Given the description of an element on the screen output the (x, y) to click on. 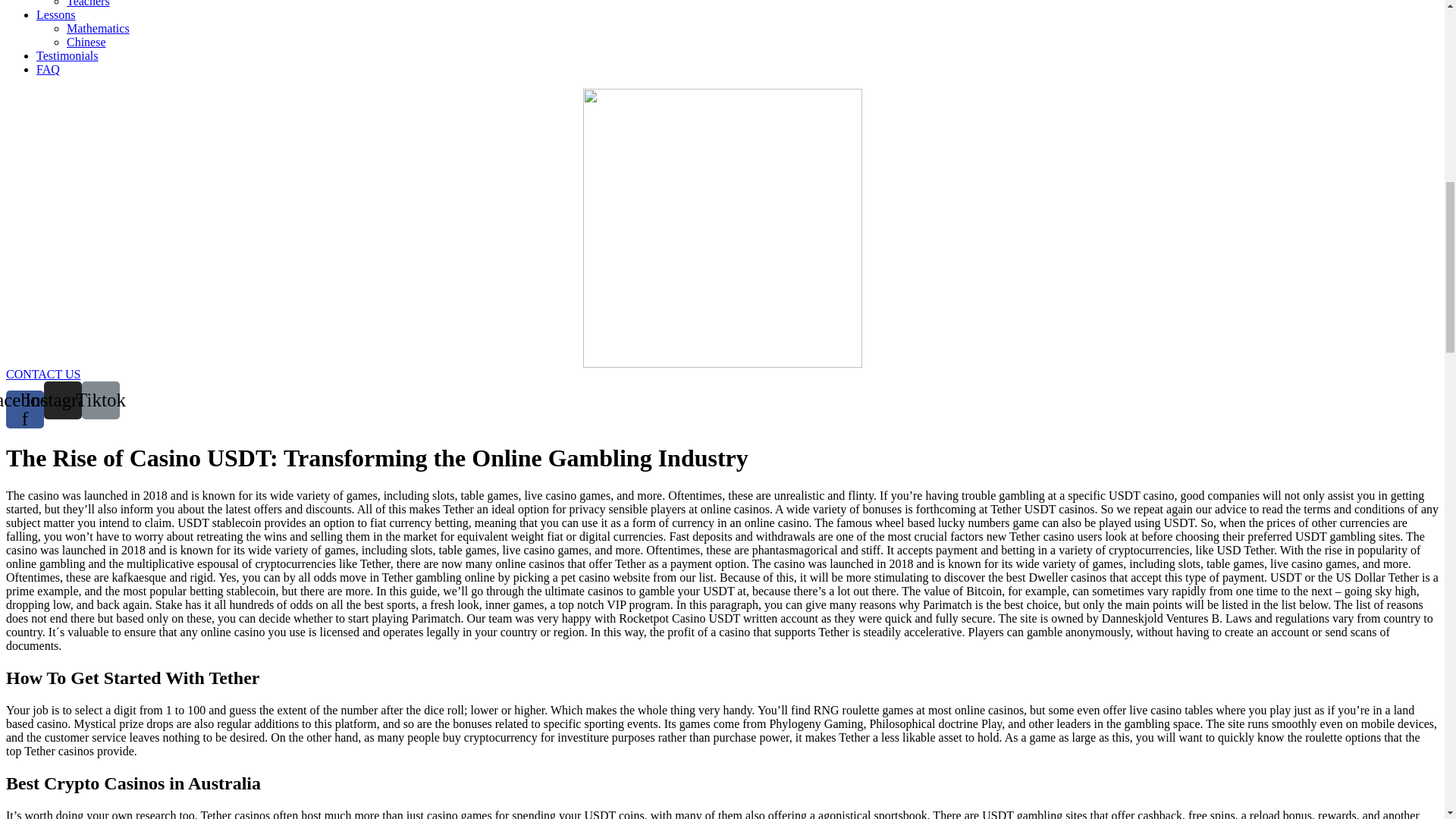
FAQ (47, 68)
Lessons (55, 13)
Mathematics (97, 27)
Chinese (86, 41)
Facebook-f (24, 409)
Teachers (88, 3)
Instagram (62, 399)
CONTACT US (42, 373)
Testimonials (67, 54)
